Given the description of an element on the screen output the (x, y) to click on. 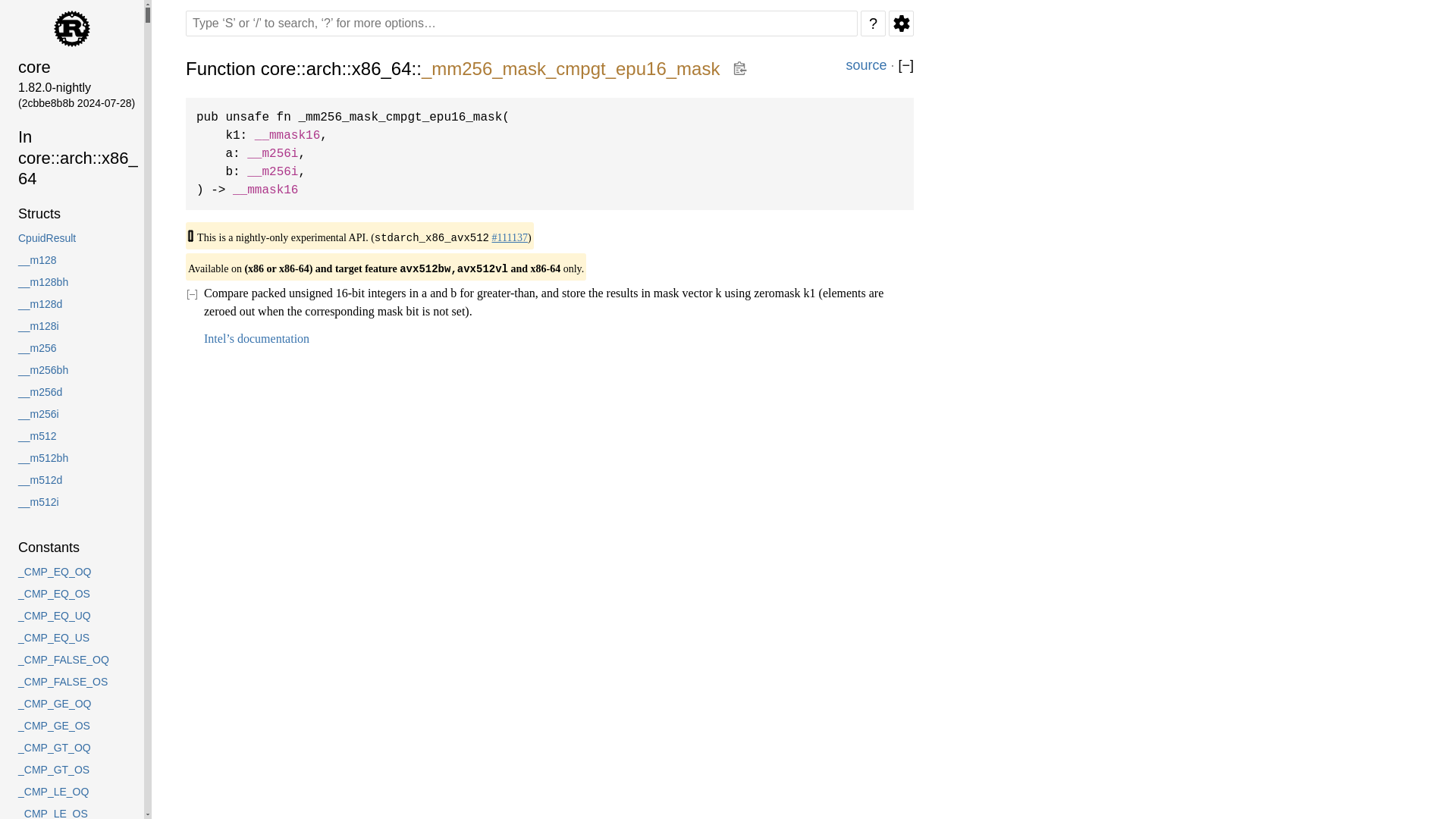
Structs (70, 213)
collapse all docs (906, 65)
Copy item path to clipboard (739, 68)
core (70, 67)
CpuidResult (70, 238)
settings (901, 23)
Constants (70, 547)
help (872, 23)
